Given the description of an element on the screen output the (x, y) to click on. 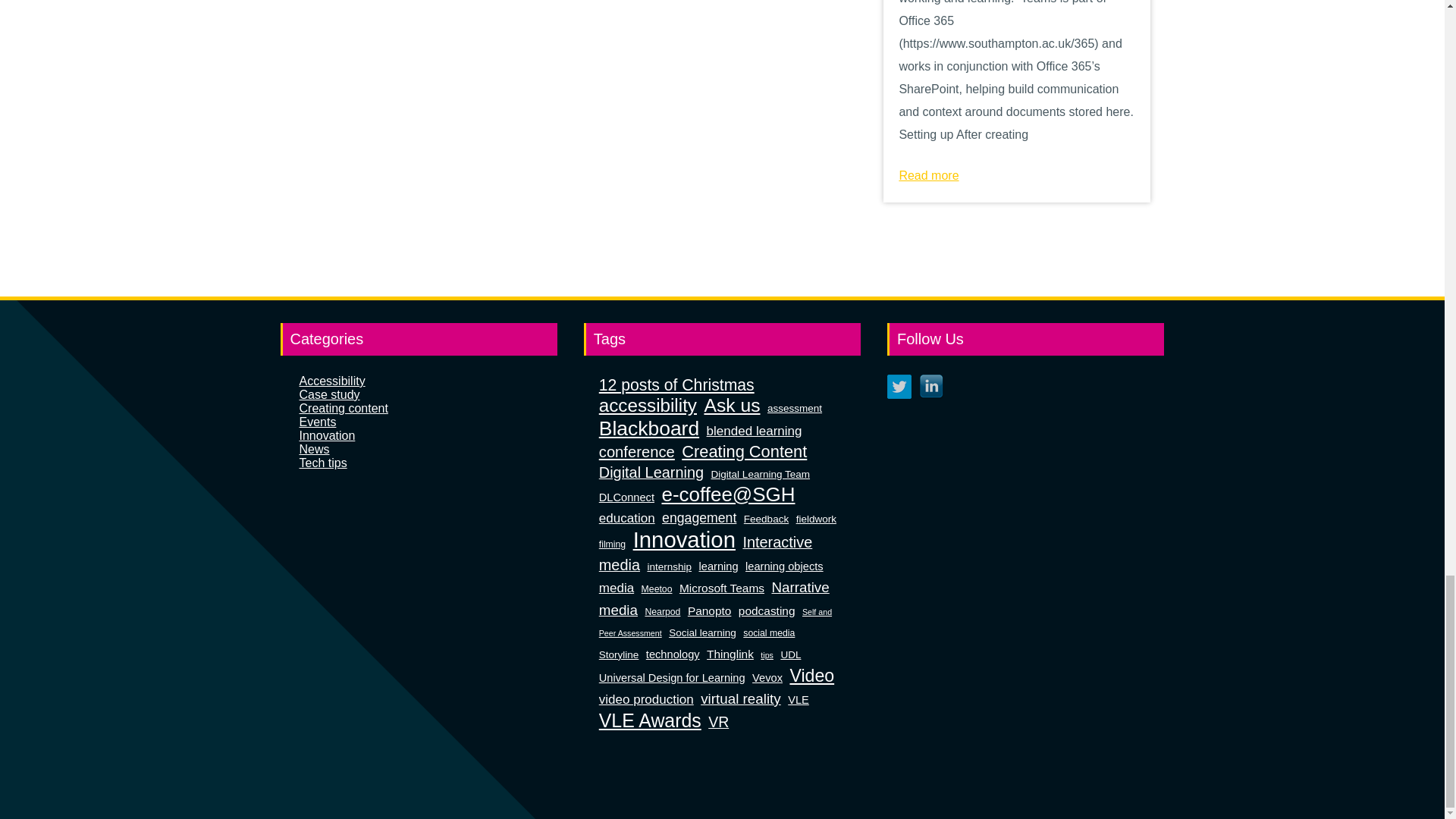
Follow Us on Twitter (898, 386)
Follow Us on LinkedIn (930, 386)
